Given the description of an element on the screen output the (x, y) to click on. 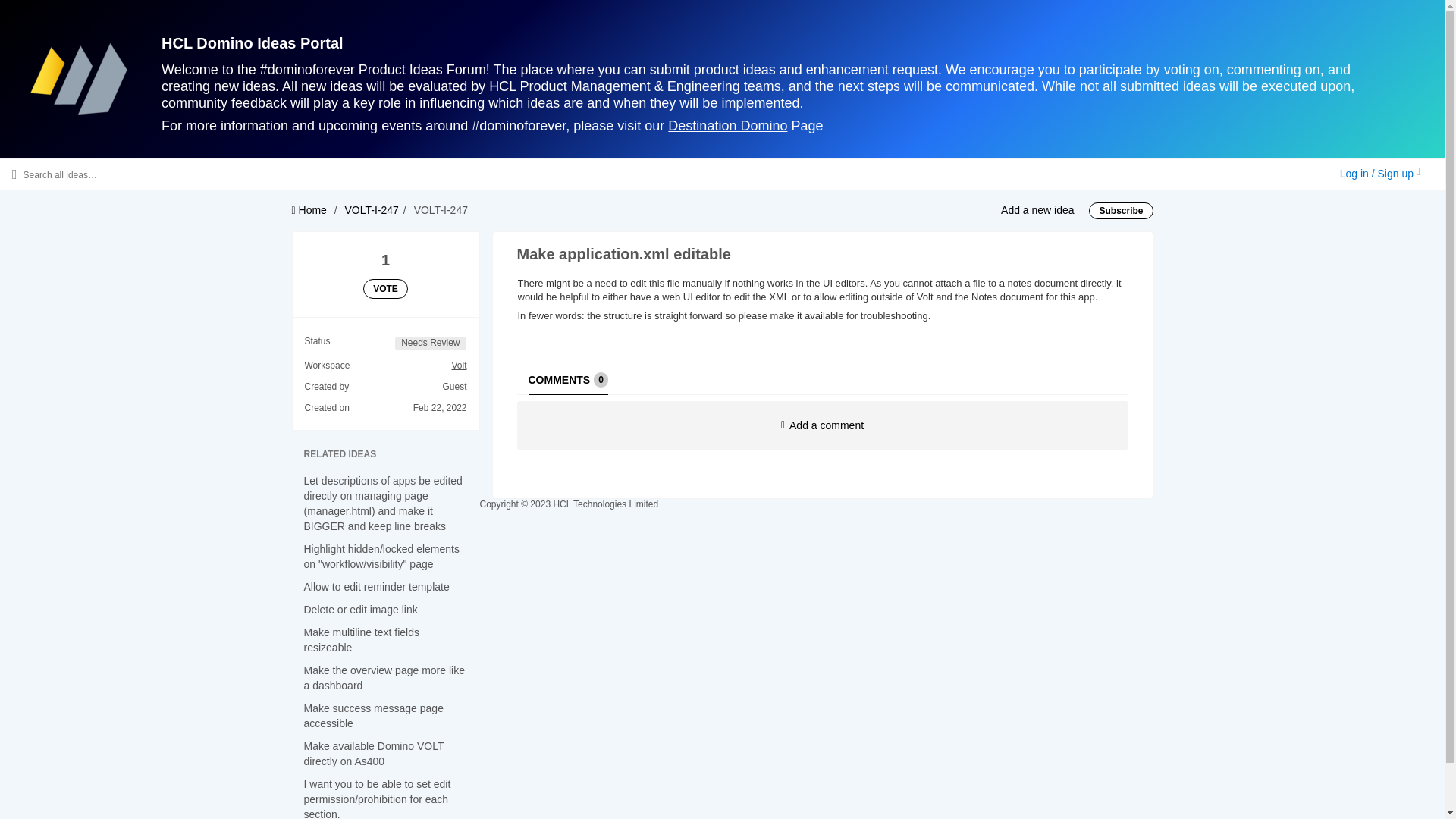
Destination Domino (727, 125)
Needs Review (429, 343)
Add a new idea (1037, 209)
Make available Domino VOLT directly on As400 (373, 753)
Make success message page accessible (372, 715)
Allow to edit reminder template (375, 586)
Delete or edit image link (359, 609)
VOTE (385, 288)
Make the overview page more like a dashboard (383, 677)
VOLT-I-247 (371, 209)
Home (310, 209)
Add a comment (822, 425)
Subscribe (567, 379)
Make multiline text fields resizeable (1121, 210)
